Given the description of an element on the screen output the (x, y) to click on. 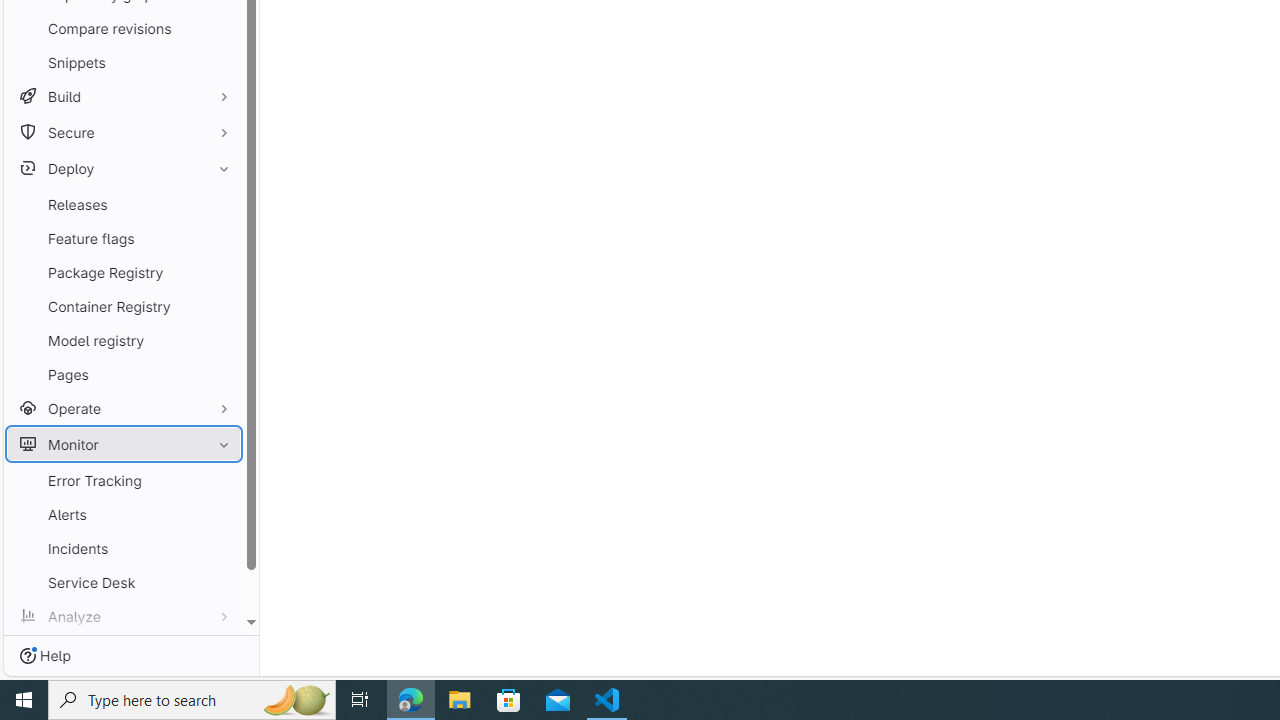
Error Tracking (123, 479)
Model registry (123, 340)
Incidents (123, 548)
Pin Feature flags (219, 238)
Pin Model registry (219, 340)
Pages (123, 373)
Releases (123, 204)
Model registry (123, 340)
Pin Package Registry (219, 272)
Secure (123, 132)
Pin Pages (219, 374)
MonitorError TrackingAlertsIncidentsService Desk (123, 513)
